Given the description of an element on the screen output the (x, y) to click on. 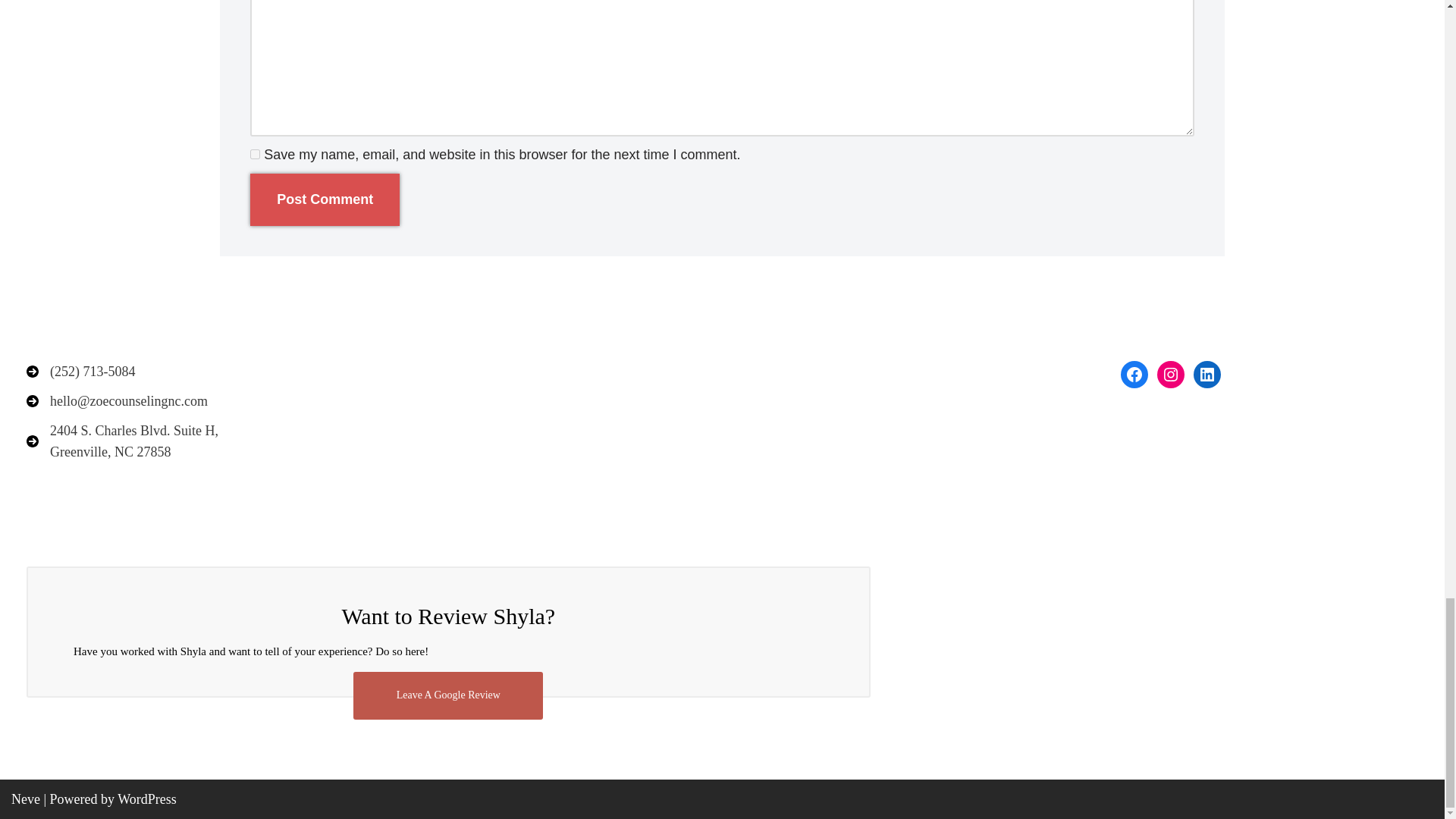
Post Comment (324, 199)
yes (255, 153)
